Given the description of an element on the screen output the (x, y) to click on. 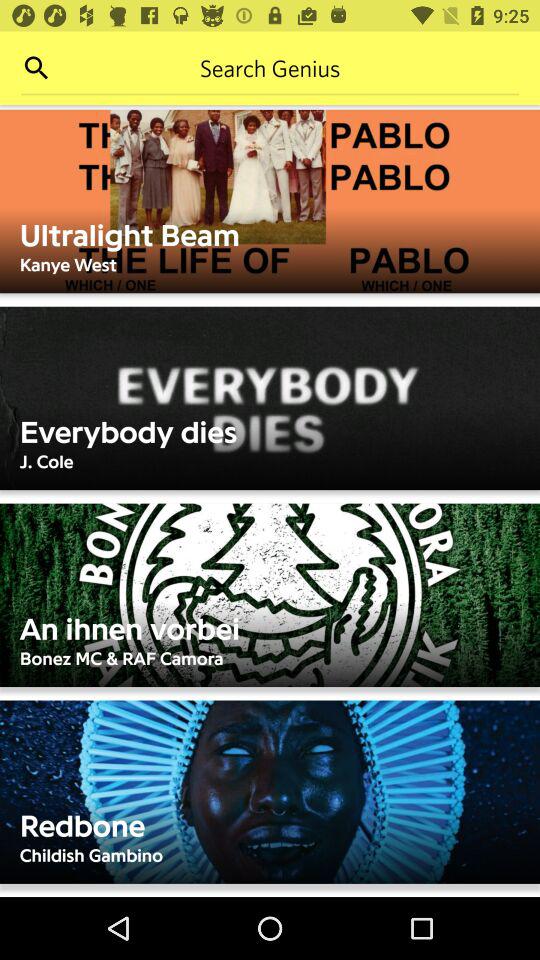
search site (270, 67)
